Given the description of an element on the screen output the (x, y) to click on. 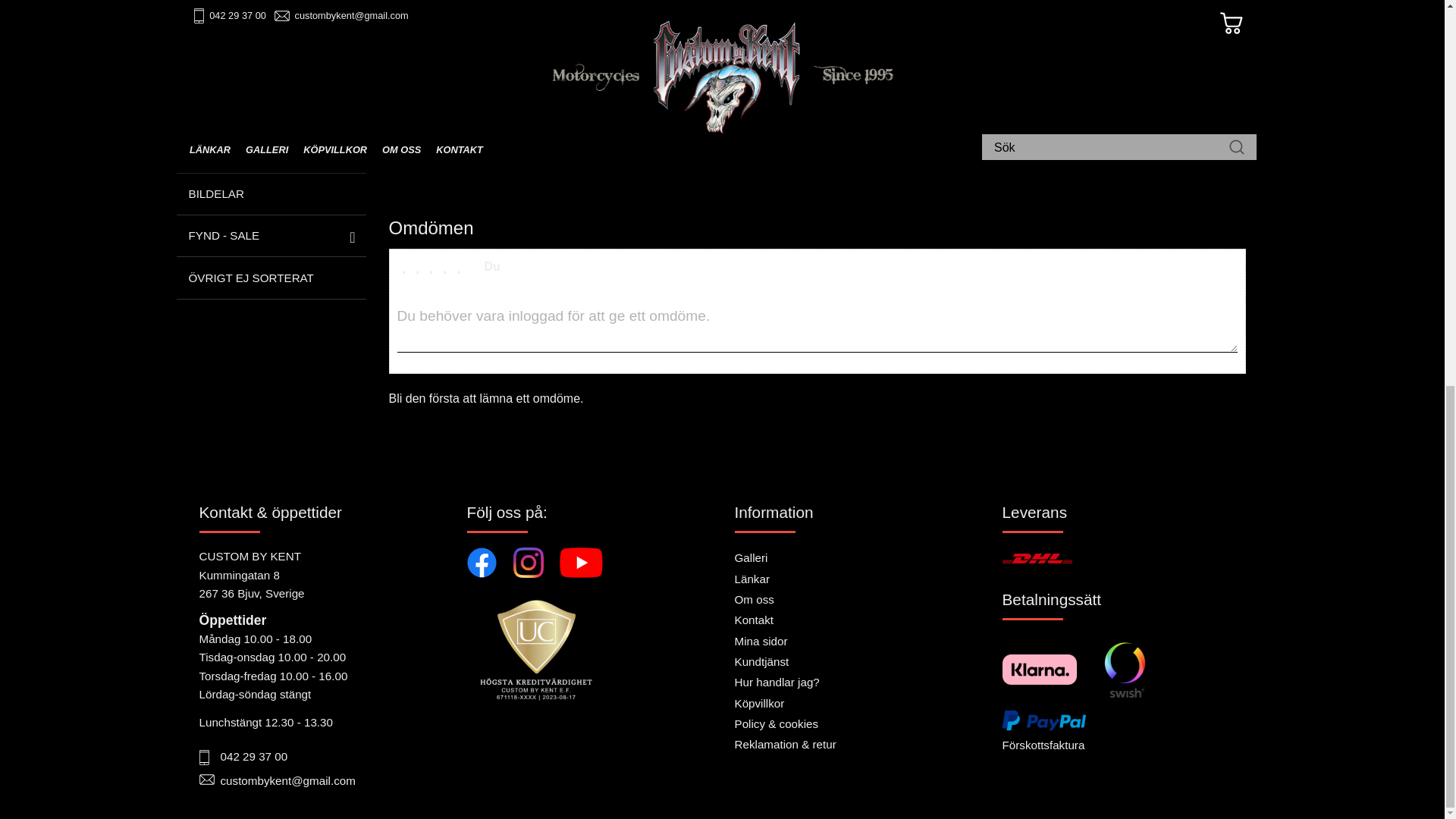
COOL STUFF (270, 25)
